Given the description of an element on the screen output the (x, y) to click on. 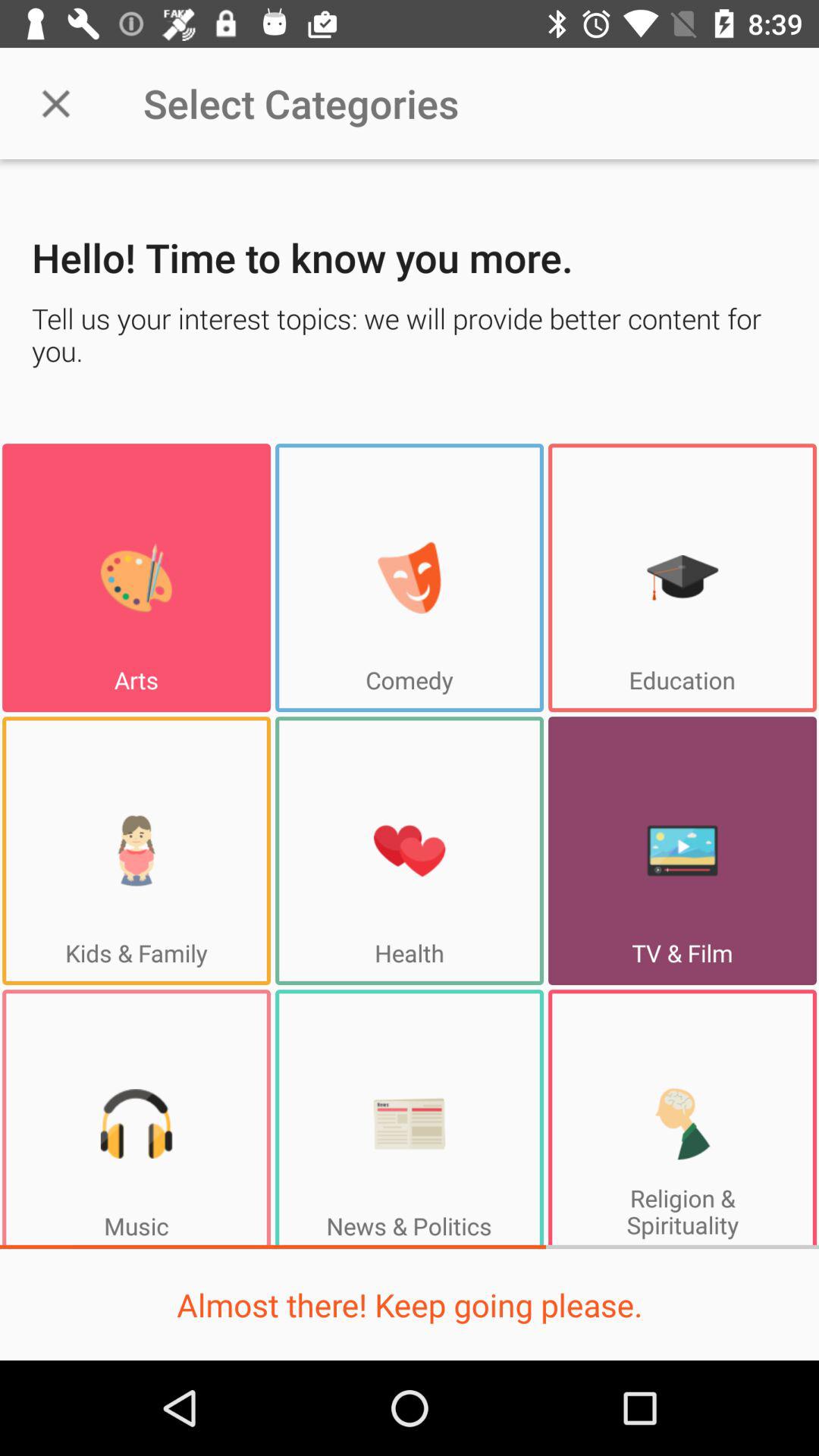
launch item above the hello time to item (55, 103)
